Given the description of an element on the screen output the (x, y) to click on. 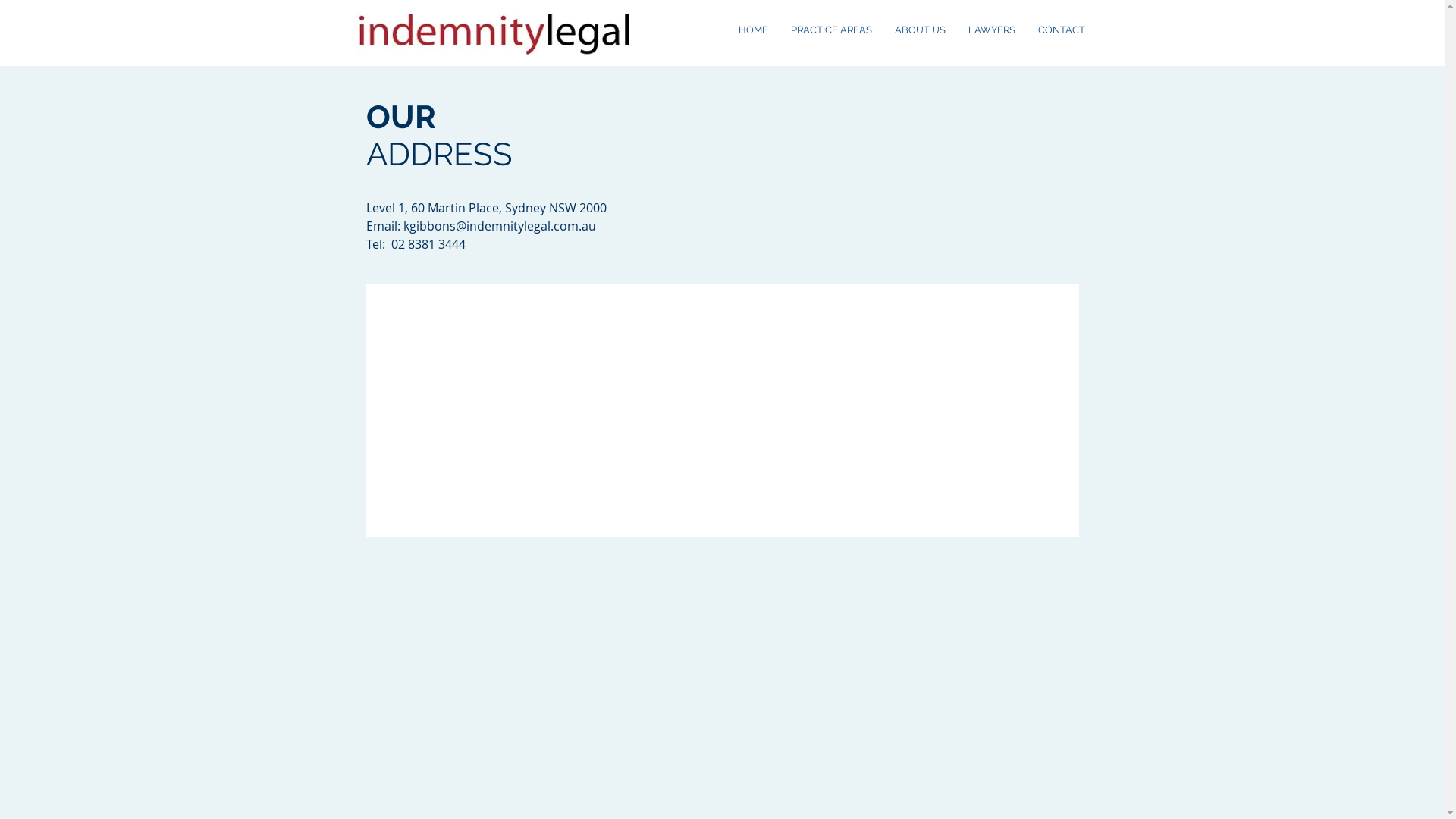
ABOUT US Element type: text (919, 29)
HOME Element type: text (752, 29)
Google Maps Element type: hover (722, 409)
LAWYERS Element type: text (991, 29)
kgibbons@indemnitylegal.com.au Element type: text (499, 225)
CONTACT Element type: text (1061, 29)
PRACTICE AREAS Element type: text (831, 29)
